Given the description of an element on the screen output the (x, y) to click on. 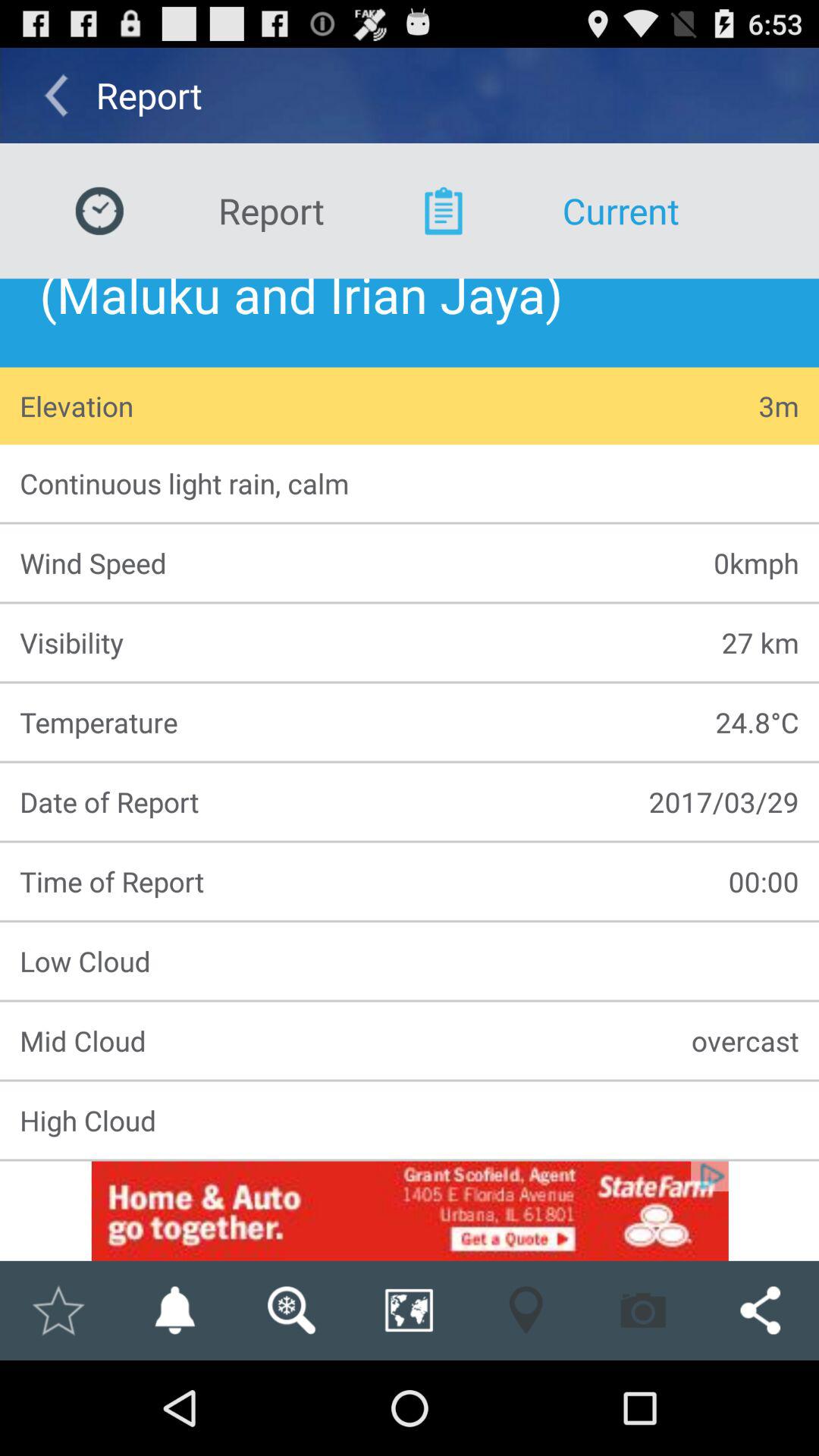
camera page (642, 1310)
